Given the description of an element on the screen output the (x, y) to click on. 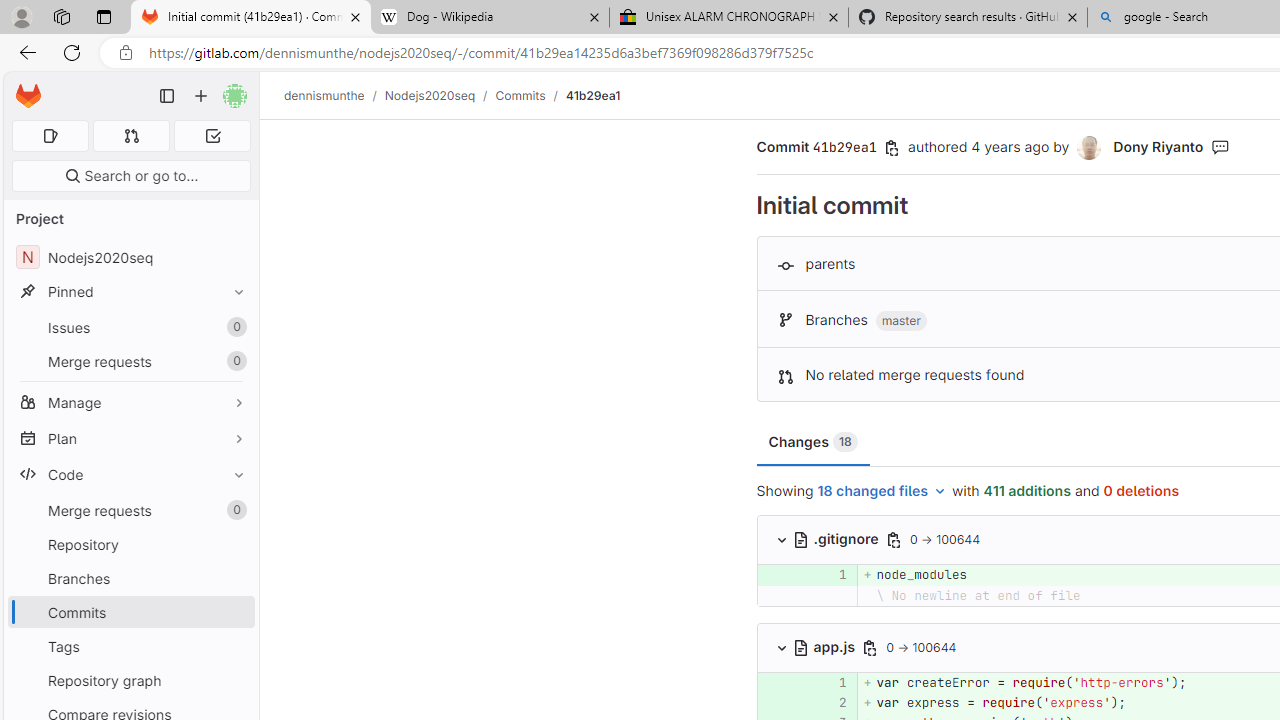
18 changed files (882, 491)
